Given the description of an element on the screen output the (x, y) to click on. 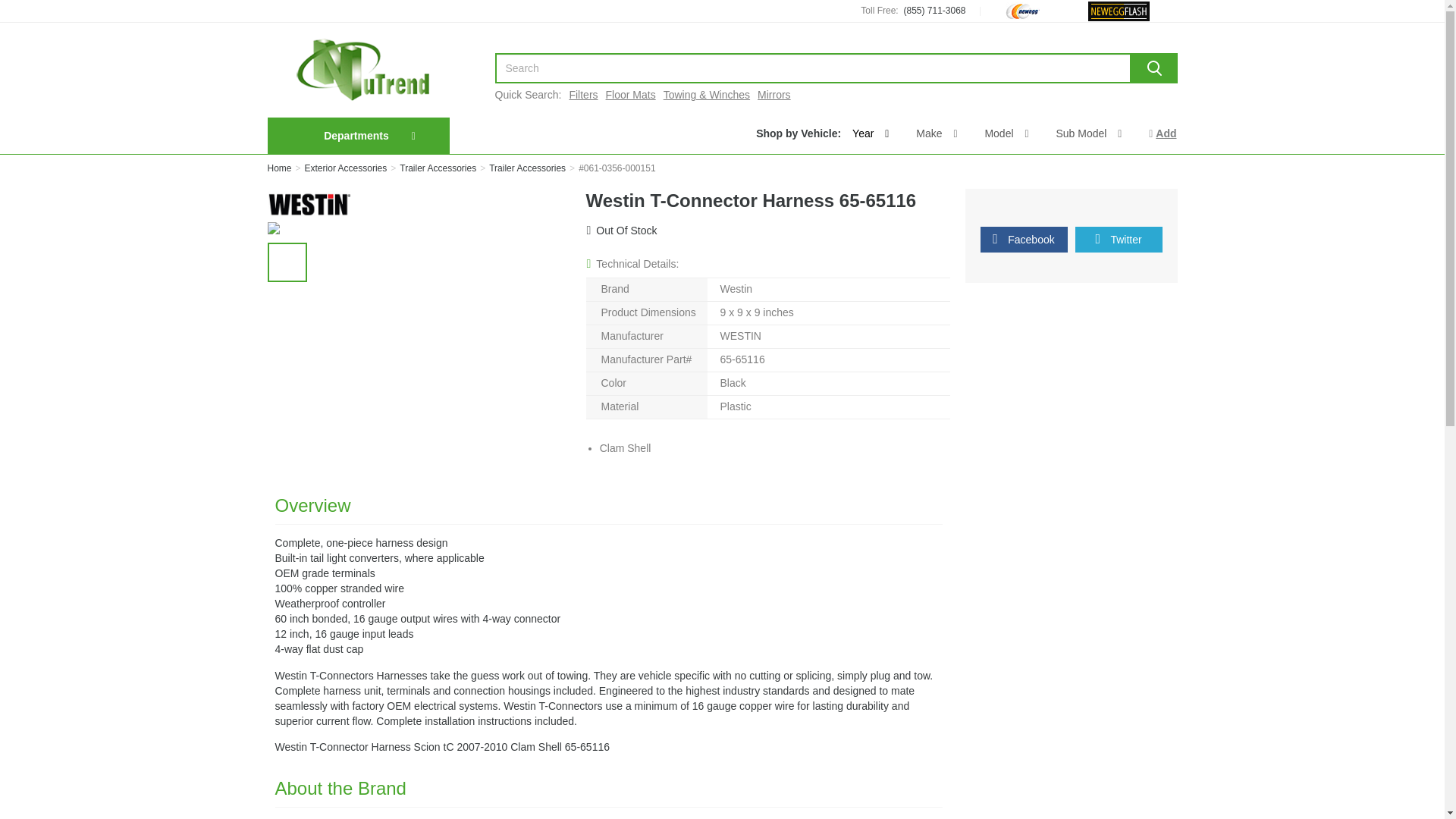
Floor Mats (630, 94)
Filters (582, 94)
Westin (308, 204)
Departments (355, 135)
Mirrors (773, 94)
